Given the description of an element on the screen output the (x, y) to click on. 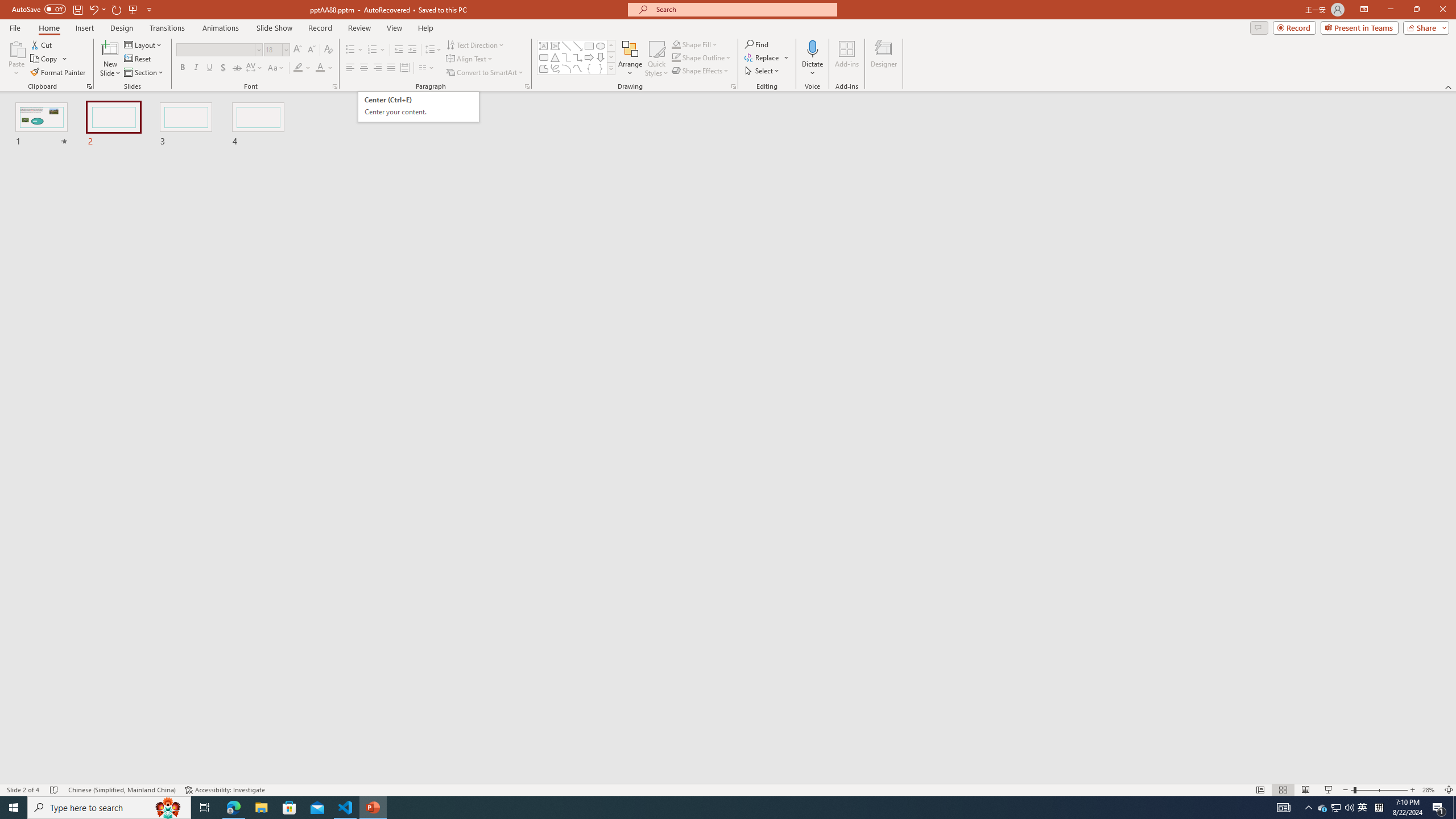
Shapes (611, 68)
Rectangle: Rounded Corners (543, 57)
Replace... (762, 56)
Copy (49, 58)
Shape Fill Aqua, Accent 2 (675, 44)
Bullets (418, 106)
Shape Outline (349, 49)
Text Box (701, 56)
Row up (543, 45)
